Given the description of an element on the screen output the (x, y) to click on. 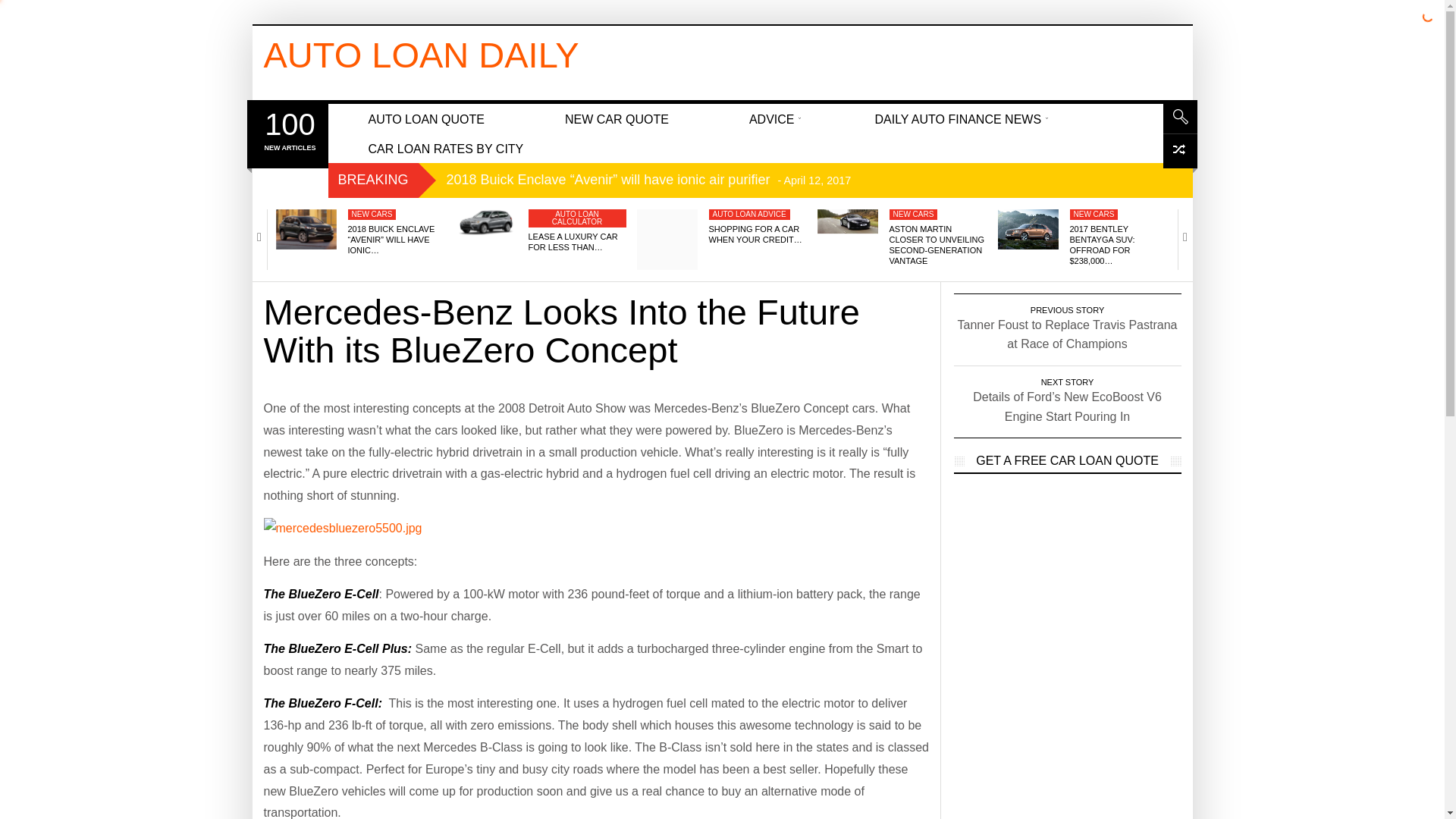
AUTO LOAN DAILY (421, 54)
Auto Loan Daily (421, 54)
ADVICE (771, 118)
NEW CAR QUOTE (616, 118)
AUTO LOAN QUOTE (425, 118)
Advertisement (762, 59)
